Given the description of an element on the screen output the (x, y) to click on. 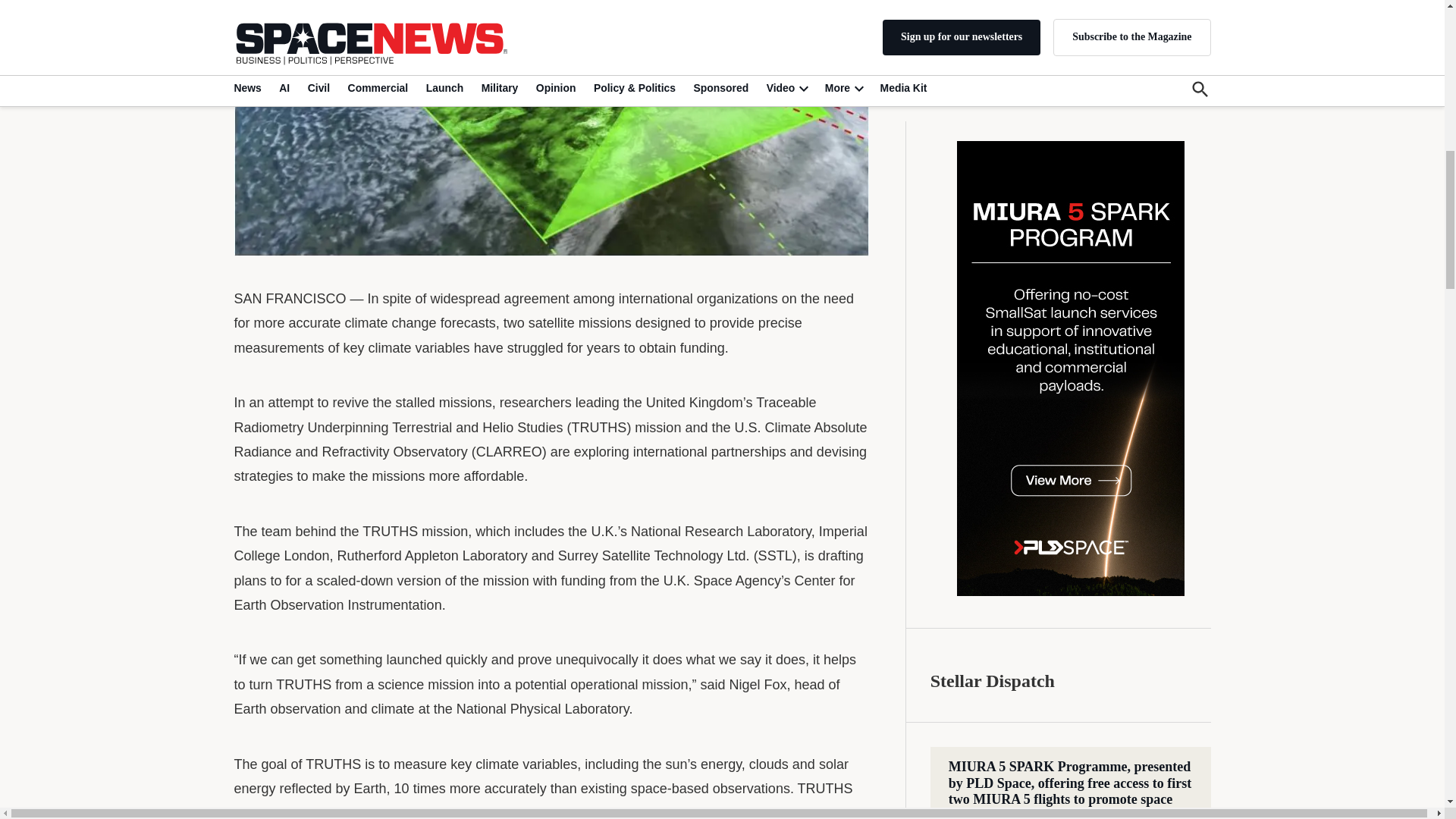
PLD Space (1070, 113)
